Given the description of an element on the screen output the (x, y) to click on. 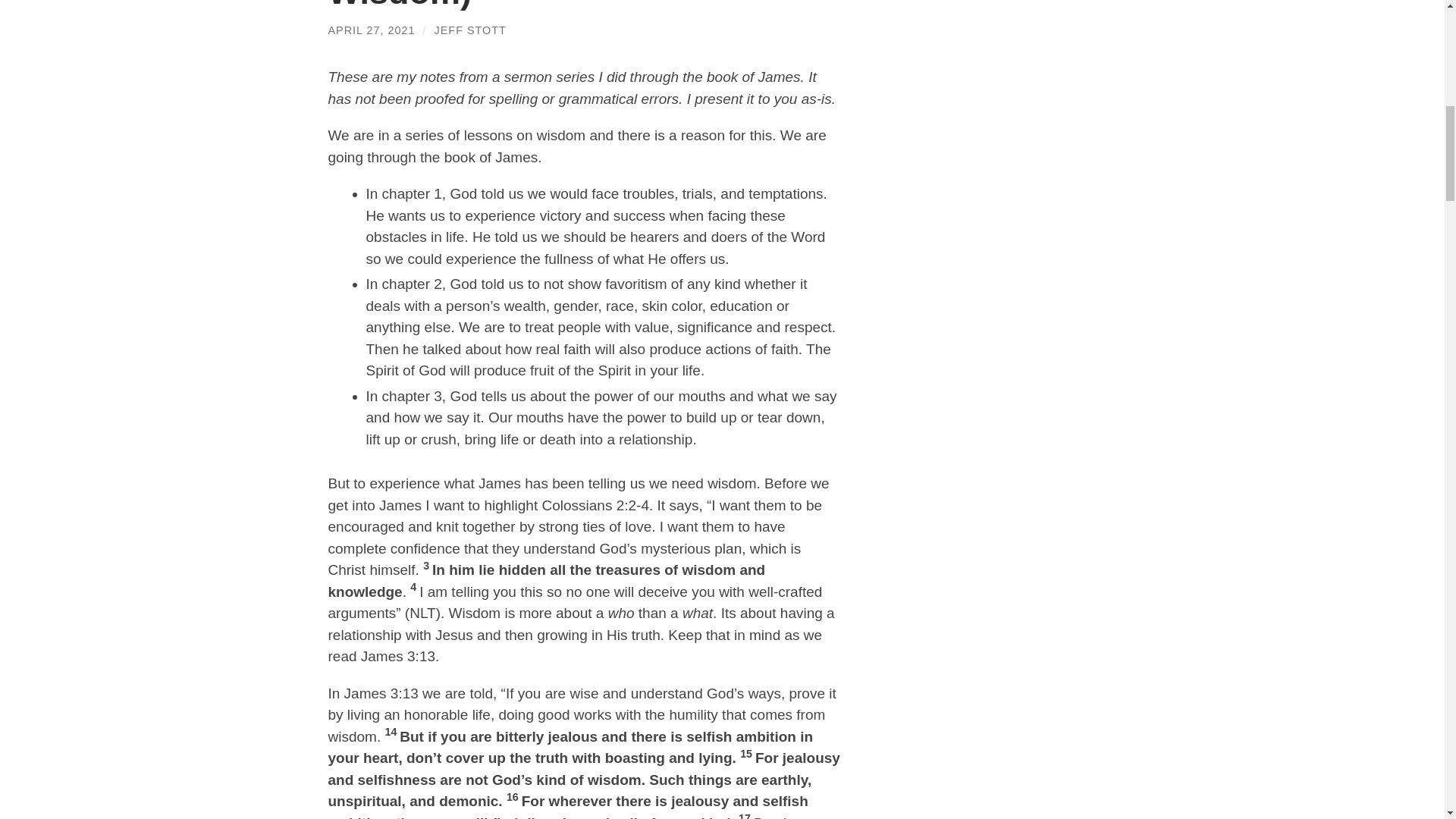
Posts by Jeff Stott (469, 30)
